Given the description of an element on the screen output the (x, y) to click on. 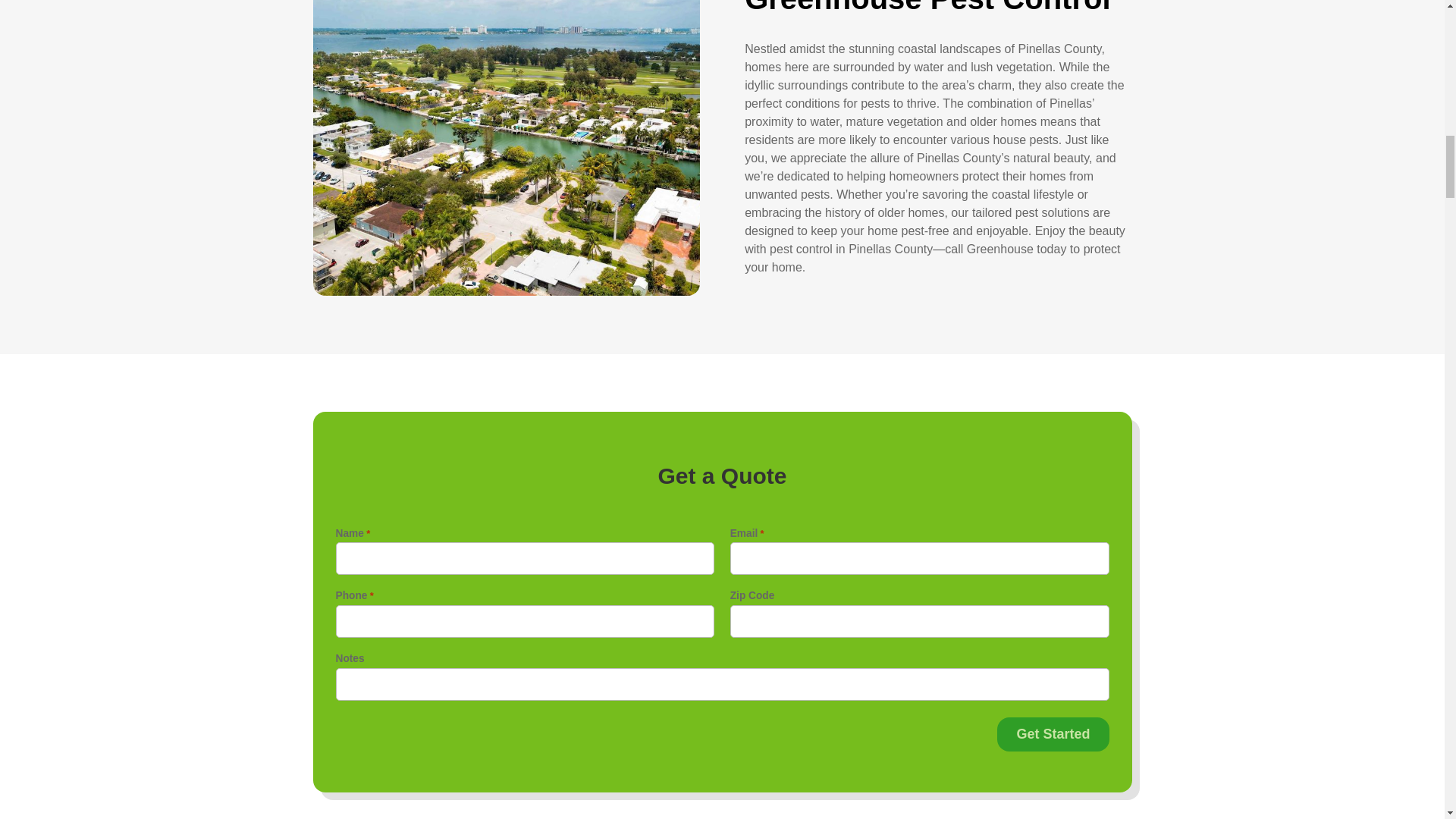
Get Started (1052, 734)
